Given the description of an element on the screen output the (x, y) to click on. 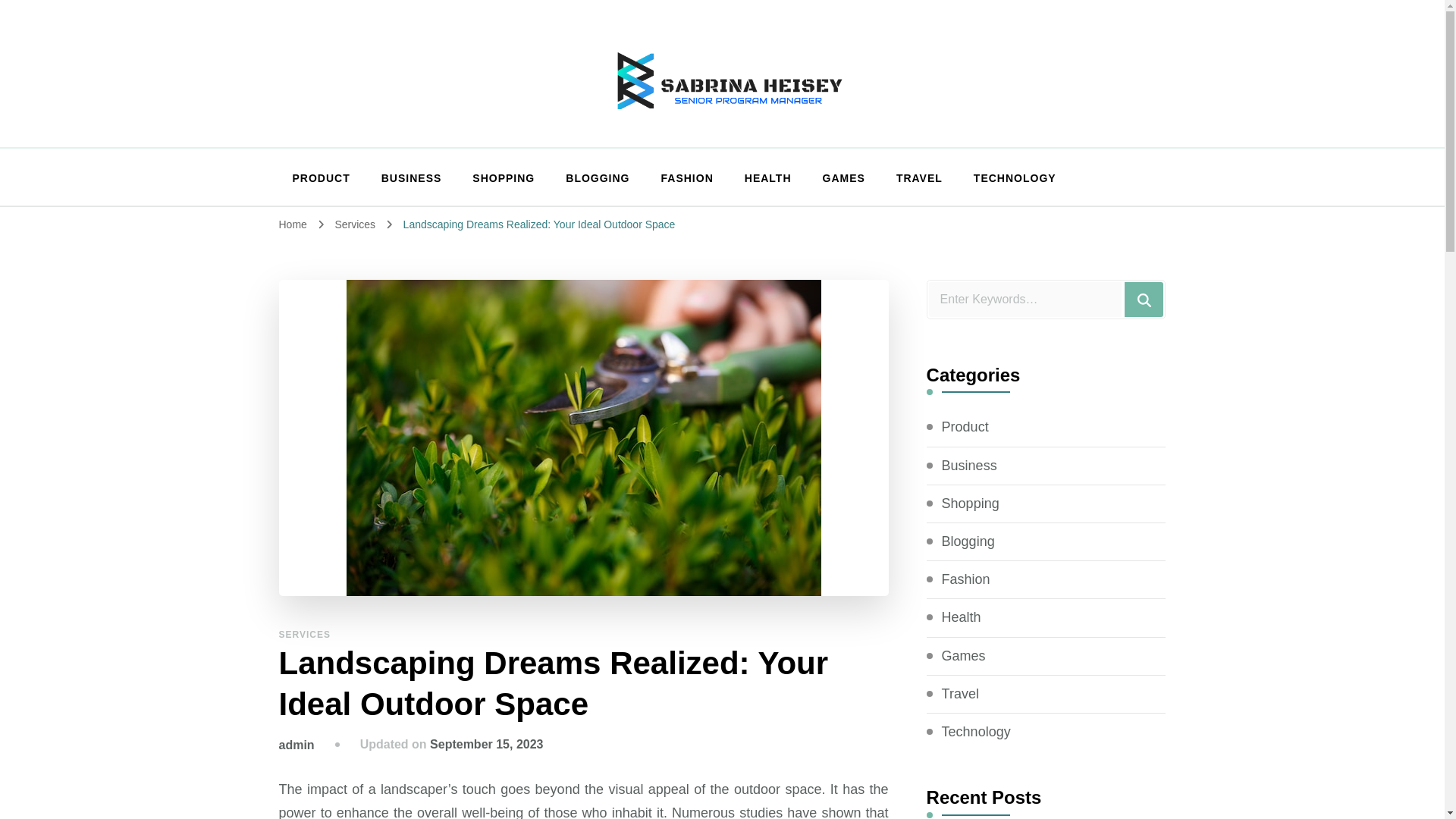
Home (293, 224)
SHOPPING (503, 178)
SERVICES (304, 634)
Search (1143, 298)
GAMES (844, 178)
Services (356, 224)
TRAVEL (919, 178)
BLOGGING (597, 178)
Shopping (970, 503)
Sabrina Heisey (721, 72)
